Given the description of an element on the screen output the (x, y) to click on. 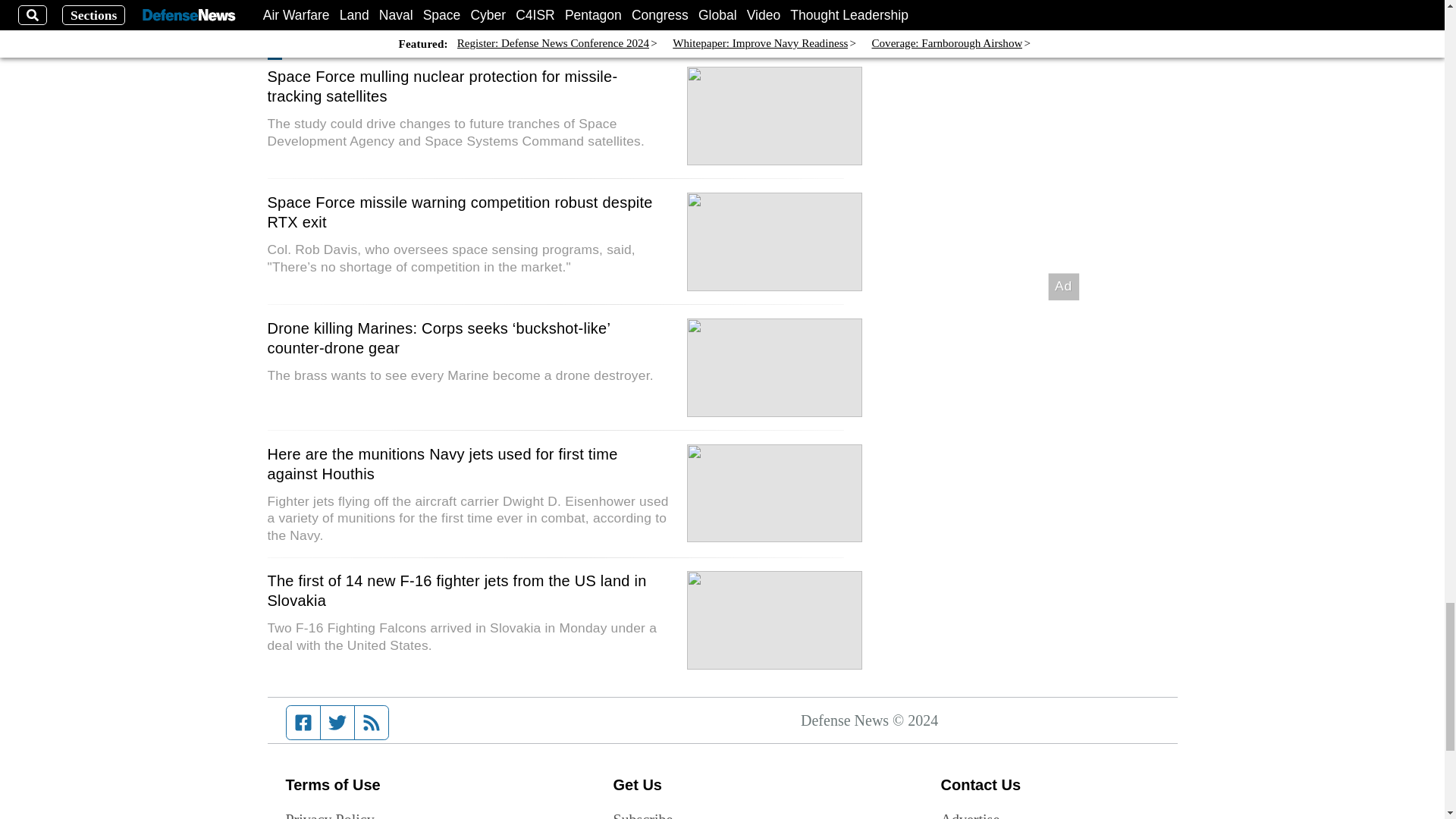
Facebook page (303, 722)
RSS feed (371, 722)
Twitter feed (336, 722)
